Given the description of an element on the screen output the (x, y) to click on. 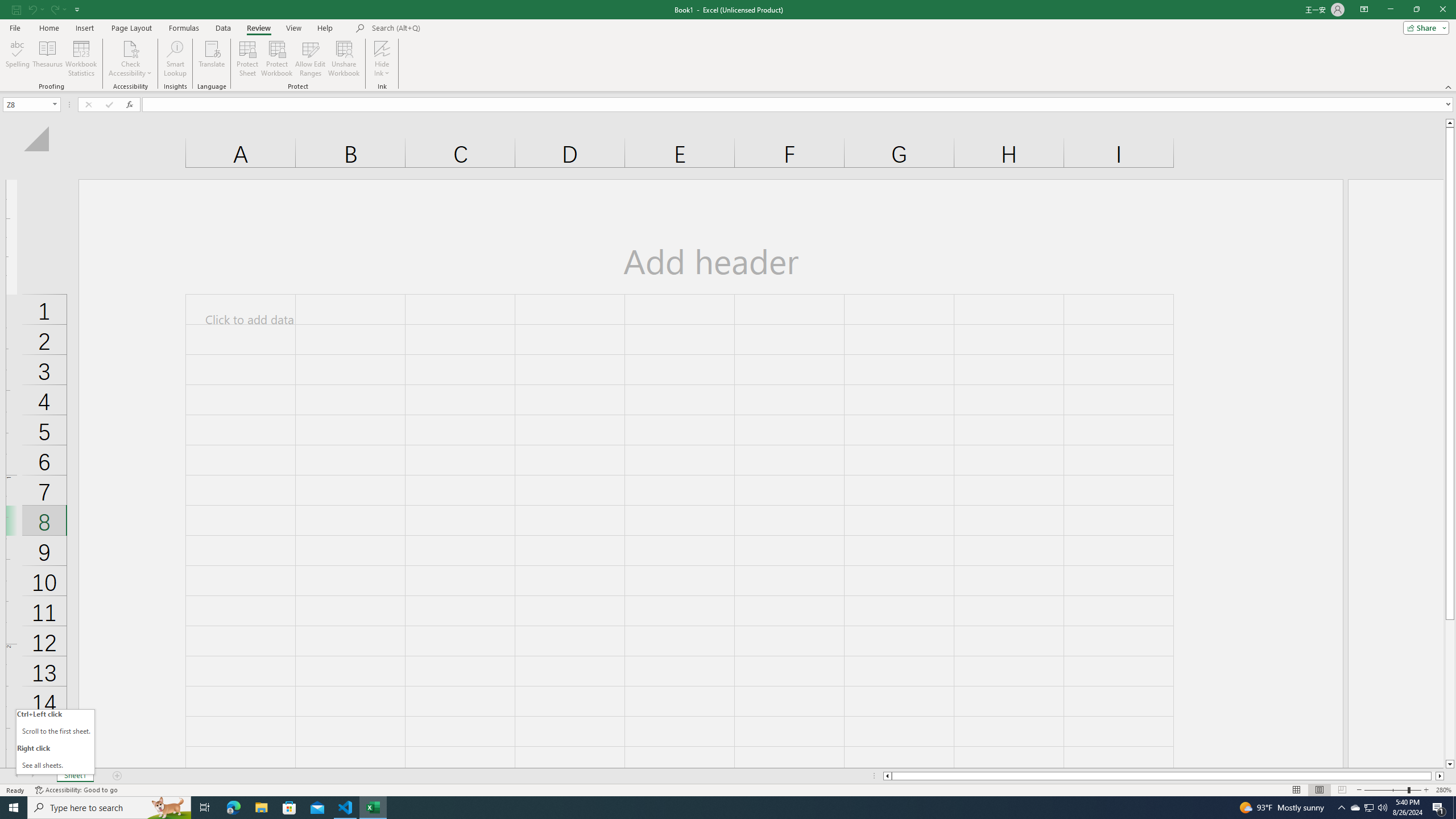
Page Layout (131, 28)
Restore Down (1416, 9)
Zoom In (1426, 790)
Unshare Workbook (344, 58)
Redo (53, 9)
Line up (1449, 122)
System (6, 6)
Translate (211, 58)
Formulas (184, 28)
Line down (1449, 764)
Name Box (30, 104)
System (6, 6)
Customize Quick Access Toolbar (77, 9)
Class: MsoCommandBar (728, 45)
Workbook Statistics (81, 58)
